Given the description of an element on the screen output the (x, y) to click on. 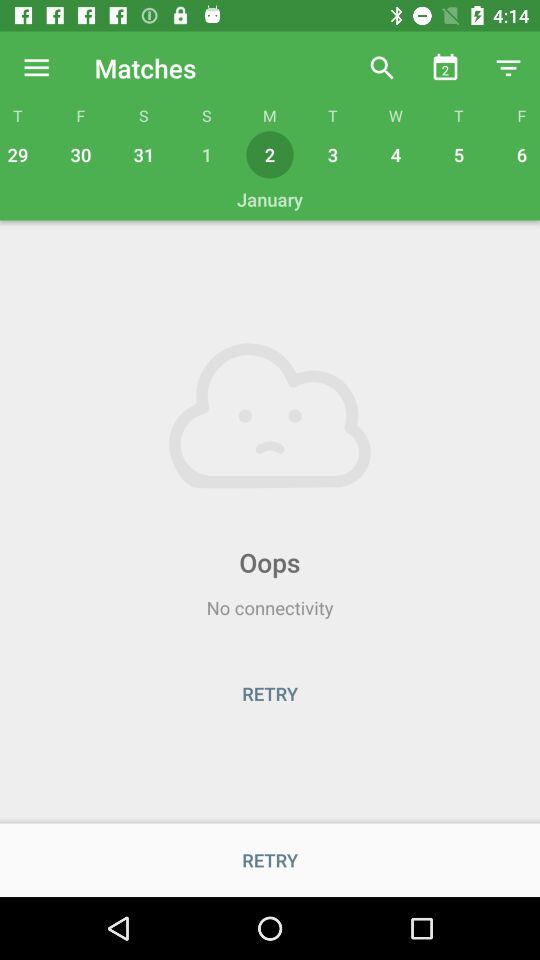
press the icon below the t item (20, 154)
